Given the description of an element on the screen output the (x, y) to click on. 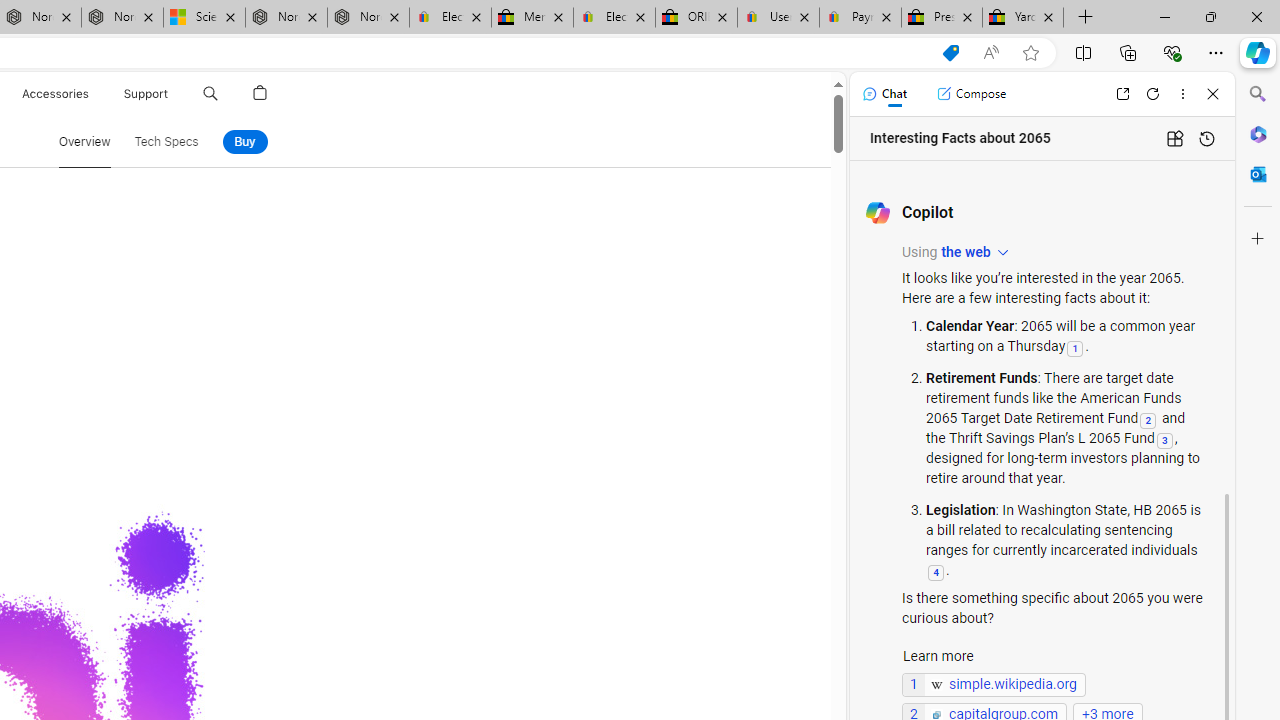
Accessories (54, 93)
Accessories menu (91, 93)
